Given the description of an element on the screen output the (x, y) to click on. 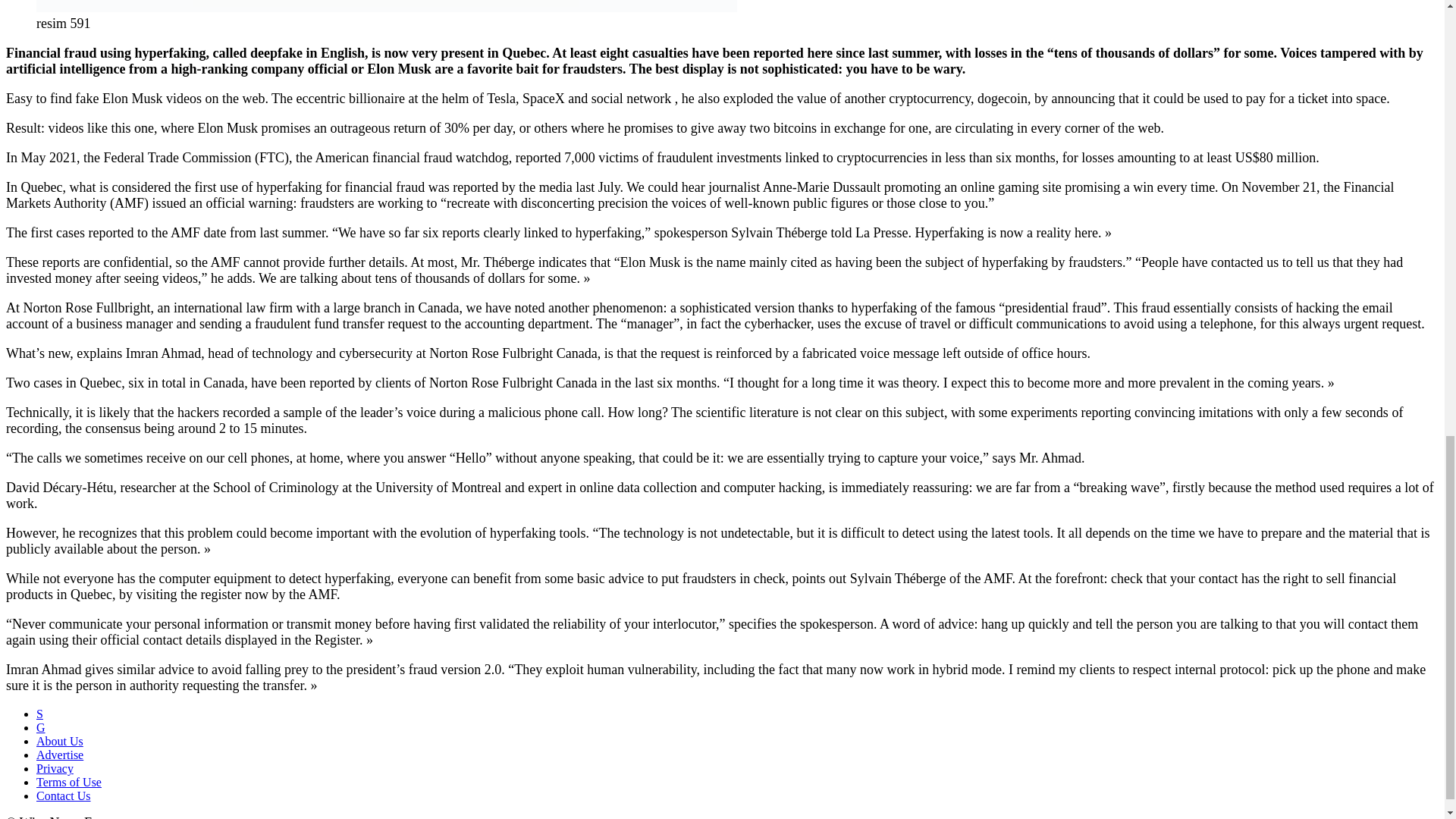
resim 591 (386, 6)
Privacy (55, 768)
Contact Us (63, 795)
Terms of Use (68, 781)
G (40, 727)
About Us (59, 740)
S (39, 713)
Advertise (59, 754)
